Given the description of an element on the screen output the (x, y) to click on. 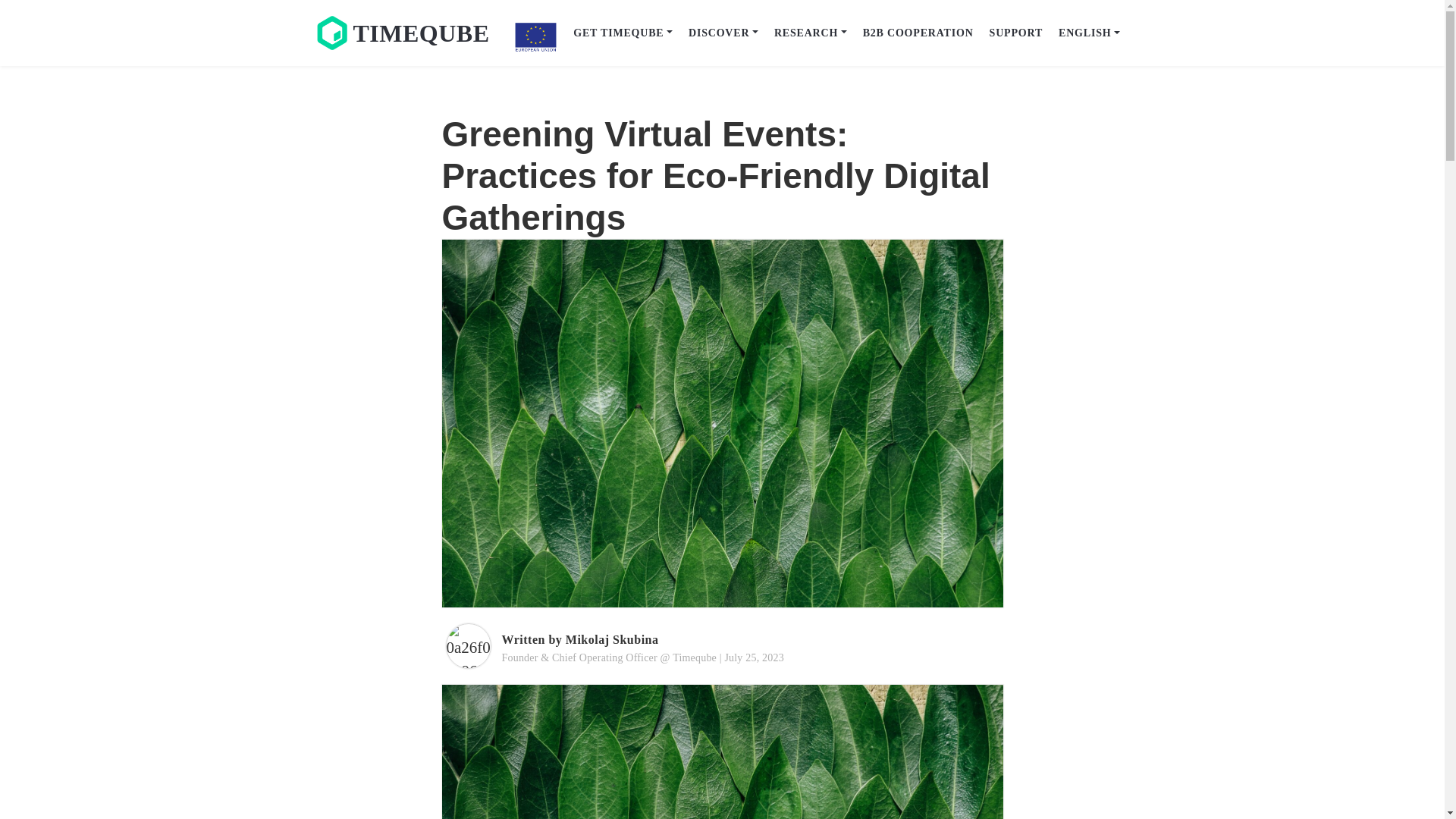
RESEARCH (809, 32)
TIMEQUBE (403, 32)
RESEARCH (809, 32)
ENGLISH (1089, 32)
ENGLISH (1089, 32)
English (1089, 32)
B2B COOPERATION (917, 32)
timeqube (403, 32)
DISCOVER (724, 32)
GET TIMEQUBE (623, 32)
SUPPORT (1015, 32)
DISCOVER (724, 32)
B2B COOPERATION (917, 32)
